Given the description of an element on the screen output the (x, y) to click on. 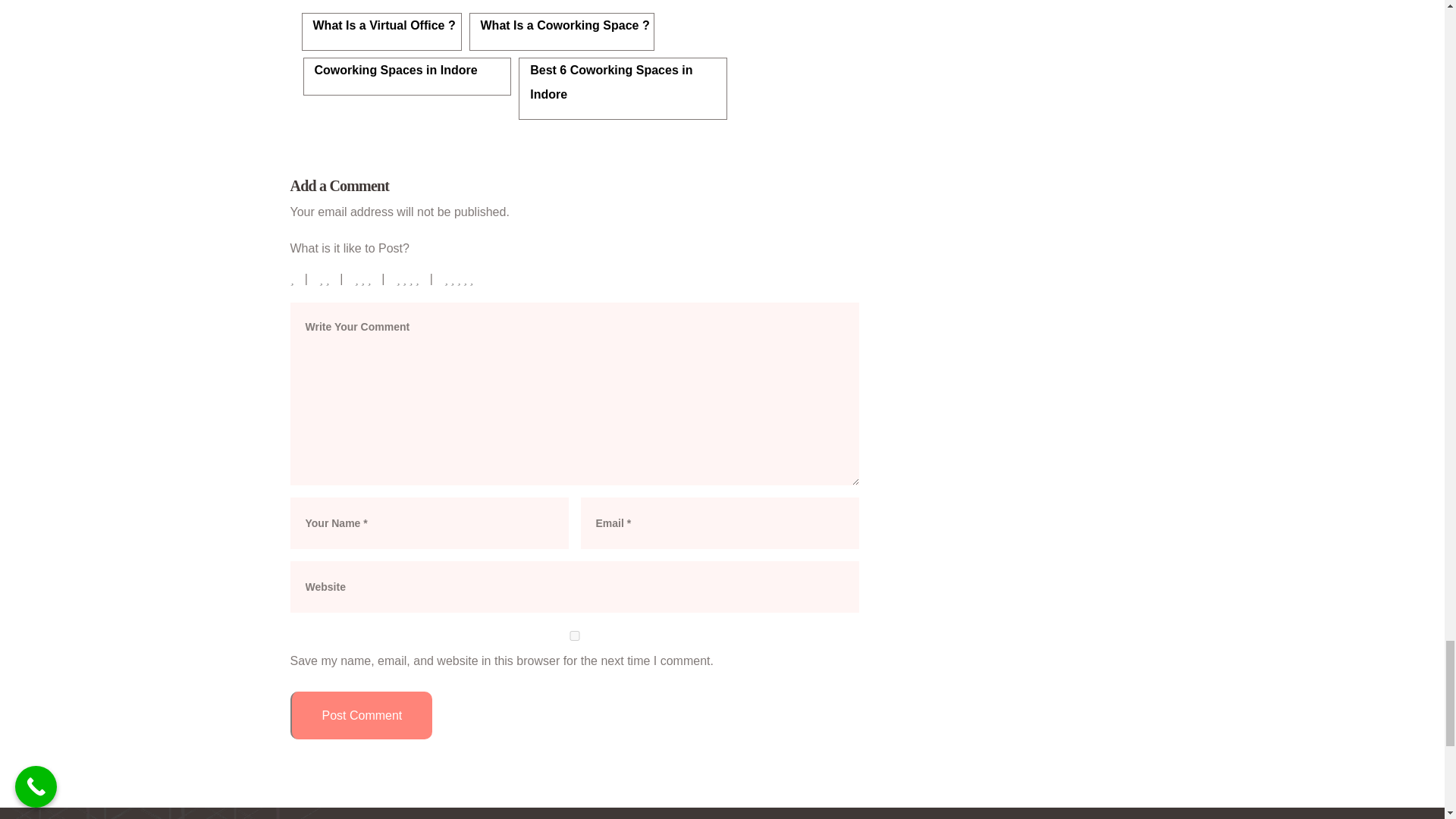
Bad - 2 stars (324, 278)
Post Comment (360, 715)
Excellent - 5 stars (460, 278)
Good - 3 stars (362, 278)
Very good - 4 stars (408, 278)
yes (574, 635)
